Given the description of an element on the screen output the (x, y) to click on. 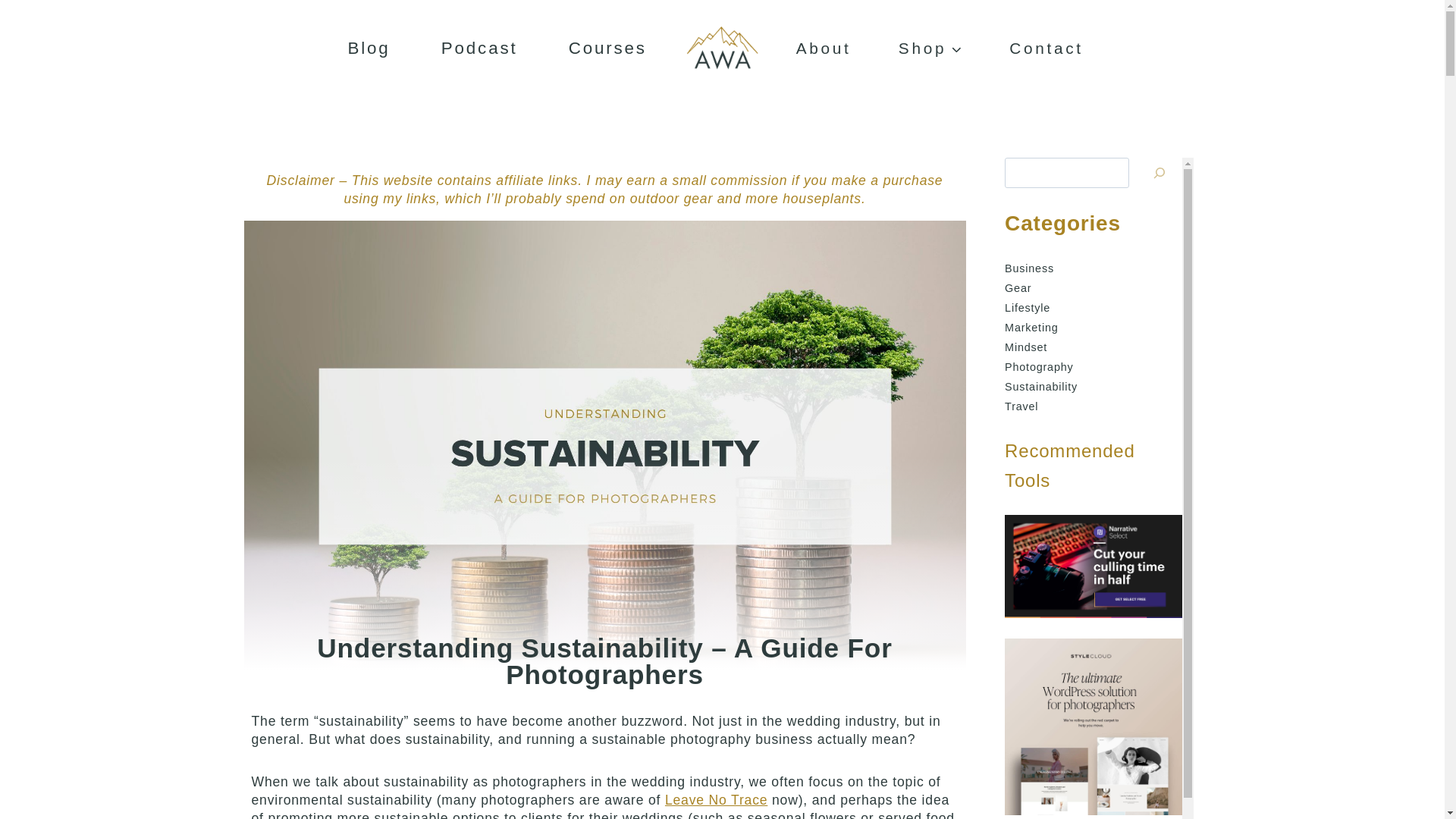
Contact (1045, 48)
Blog (367, 48)
Leave No Trace (716, 799)
Shop (930, 48)
About (823, 48)
Courses (607, 48)
Podcast (478, 48)
